Given the description of an element on the screen output the (x, y) to click on. 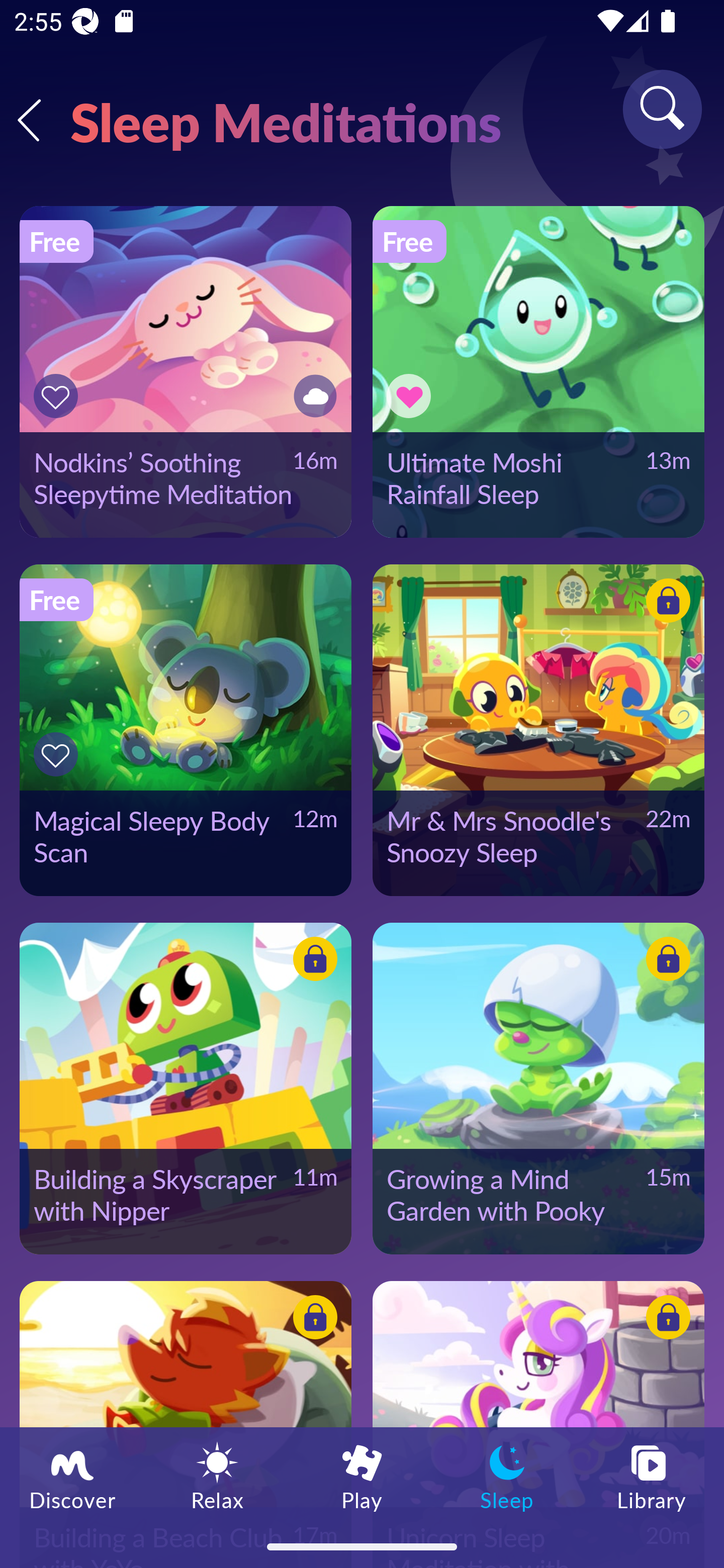
Button (58, 395)
Button (311, 395)
Button (411, 395)
Button (665, 603)
Button (58, 753)
Button (311, 960)
Button (665, 960)
Button (311, 1320)
Button (665, 1320)
Discover (72, 1475)
Relax (216, 1475)
Play (361, 1475)
Library (651, 1475)
